Given the description of an element on the screen output the (x, y) to click on. 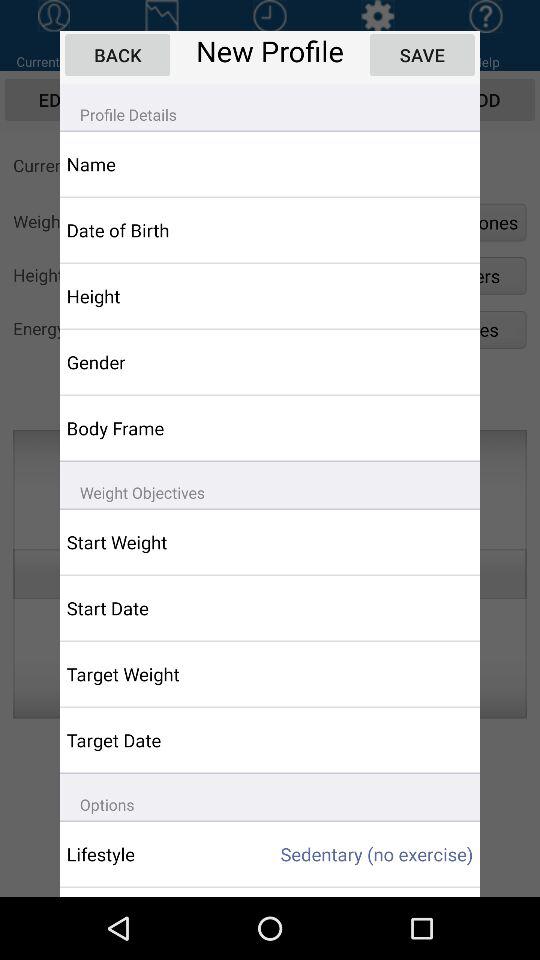
choose save at the top right corner (422, 54)
